Given the description of an element on the screen output the (x, y) to click on. 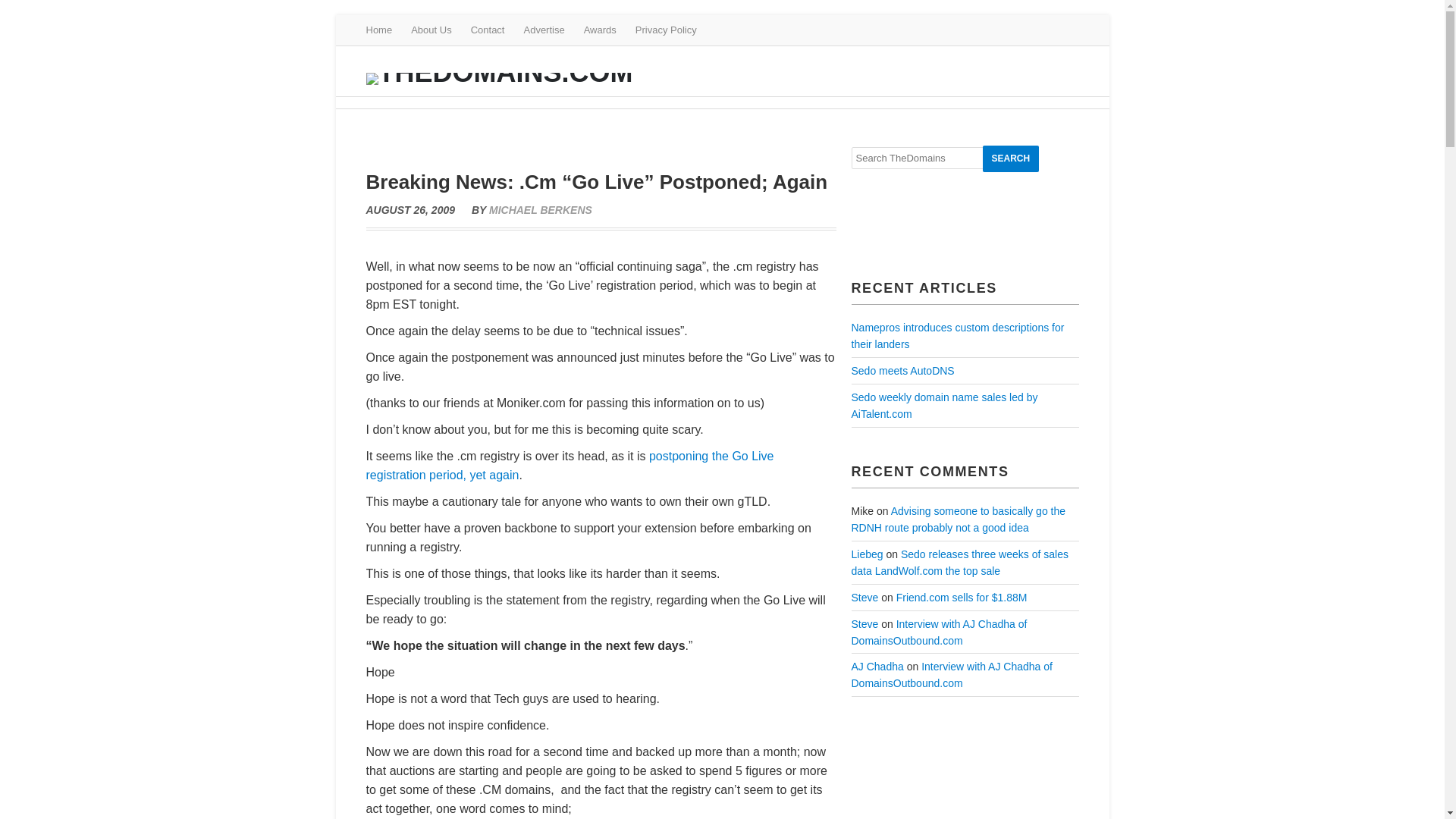
Awards (599, 30)
Contact (487, 30)
Privacy Policy (665, 30)
Twitter (1024, 29)
RSS (1068, 29)
Namepros introduces custom descriptions for their landers (957, 335)
Posts by Michael Berkens (540, 209)
Liebeg (866, 553)
